Given the description of an element on the screen output the (x, y) to click on. 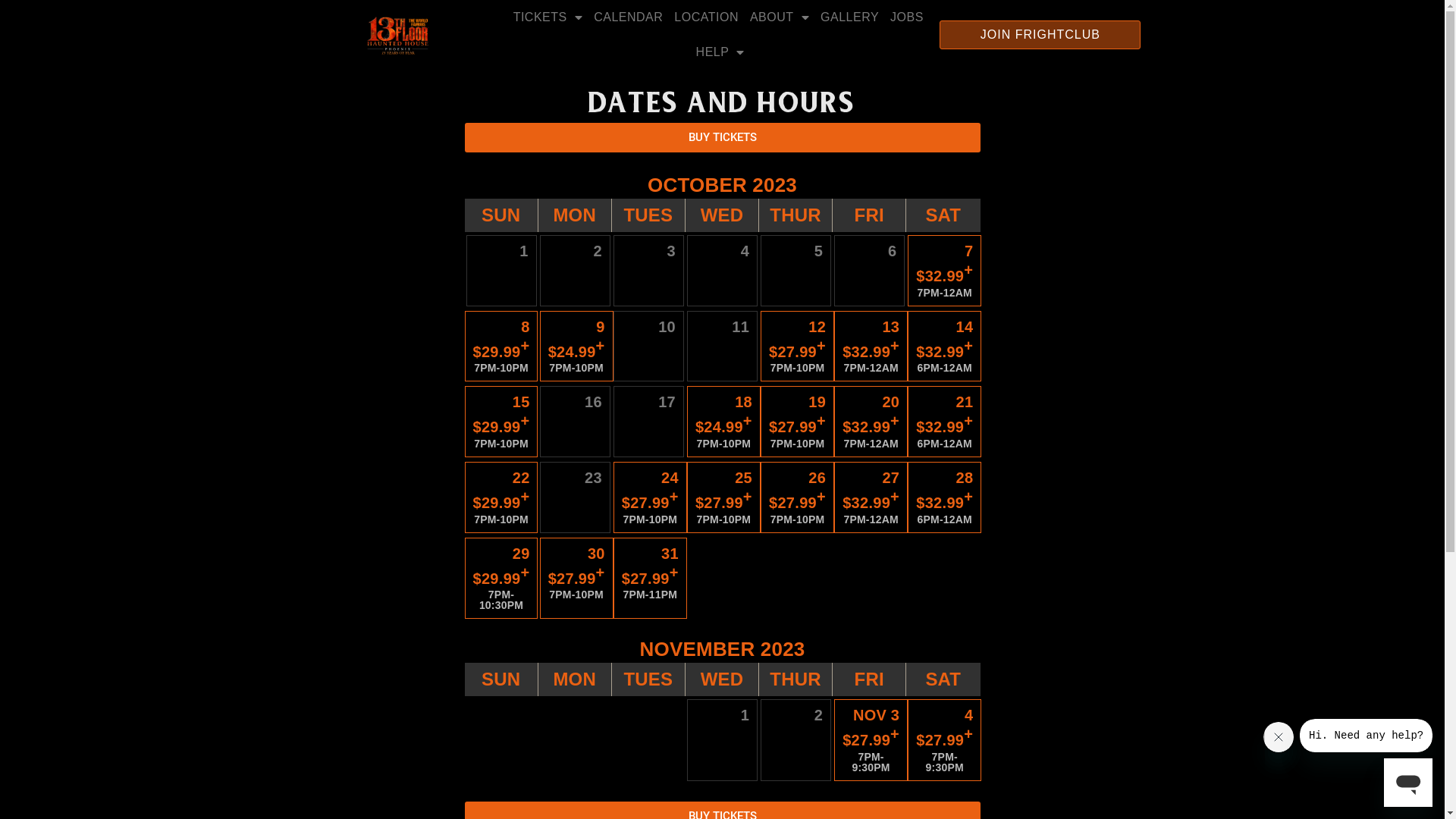
LOCATION Element type: text (706, 17)
BUY TICKETS Element type: text (721, 137)
CALENDAR Element type: text (627, 17)
JOBS Element type: text (906, 17)
Close message Element type: hover (1278, 736)
ABOUT Element type: text (779, 17)
Button to launch messaging window Element type: hover (1407, 782)
GALLERY Element type: text (849, 17)
TICKETS Element type: text (547, 17)
JOIN FRIGHTCLUB Element type: text (1039, 34)
Message from company Element type: hover (1365, 735)
HELP Element type: text (720, 51)
